Given the description of an element on the screen output the (x, y) to click on. 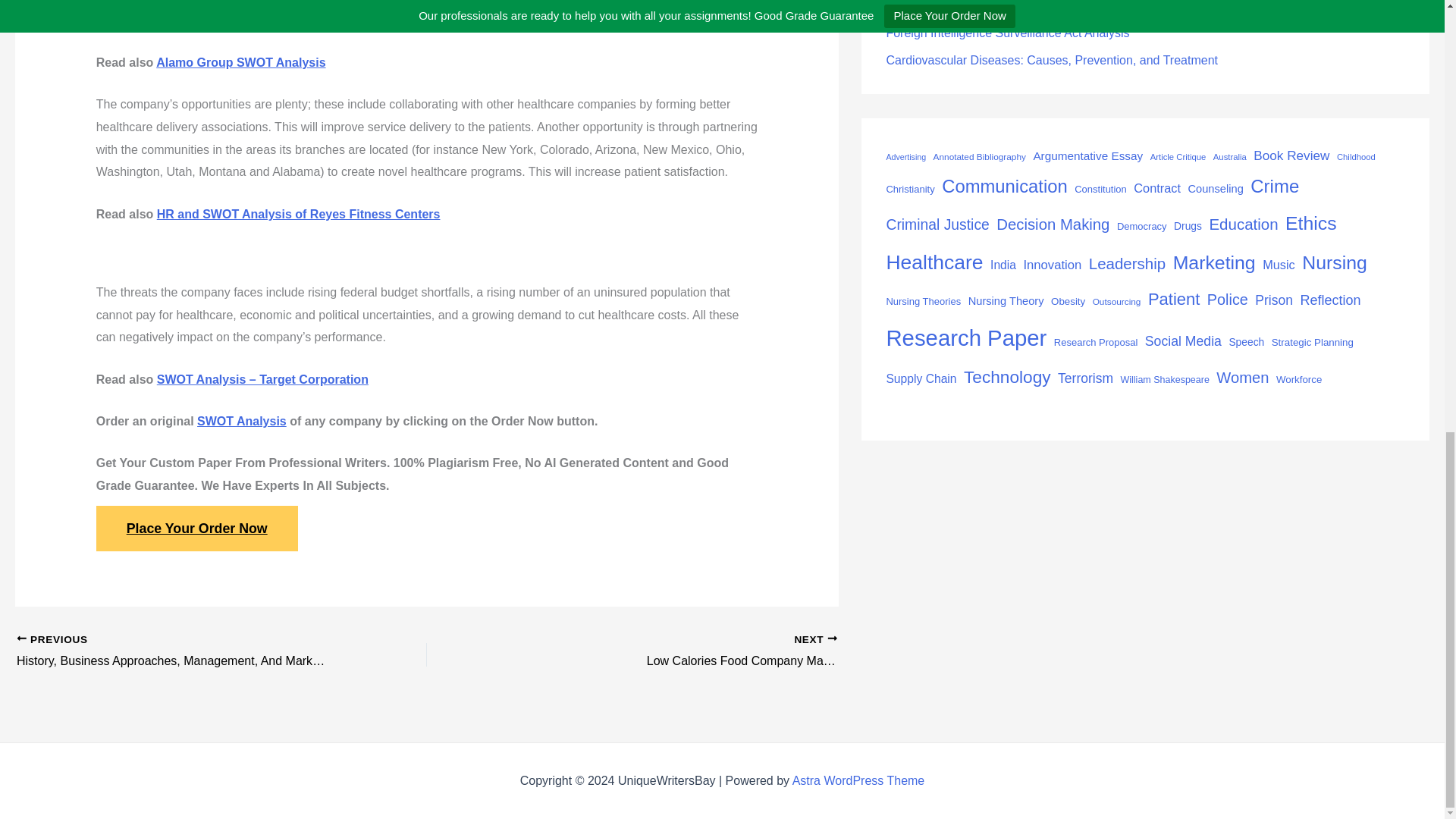
Contract (1157, 188)
Counseling (1215, 188)
Crime (1274, 186)
Alamo Group SWOT Analysis (239, 62)
Argumentative Essay (1087, 156)
Foreign Intelligence Surveillance Act Analysis (1007, 32)
Criminal Justice (936, 225)
HR and SWOT Analysis of Reyes Fitness Centers (299, 214)
Australia (1229, 157)
Low Calories Food Company Market Structure Analysis (734, 651)
Decision Making (1052, 224)
Annotated Bibliography (979, 157)
Communication (1004, 186)
Place Your Order Now (197, 528)
